Given the description of an element on the screen output the (x, y) to click on. 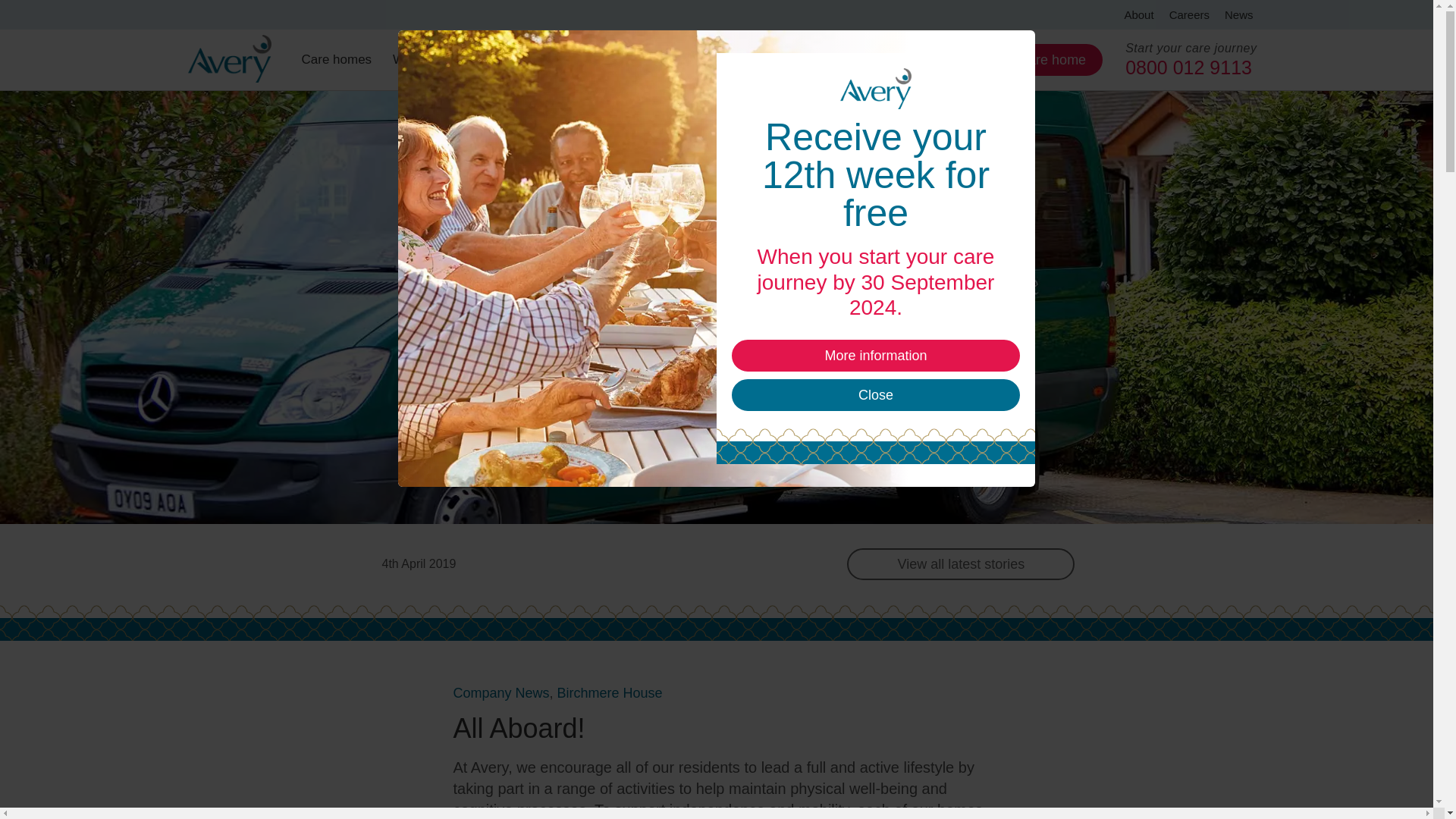
Careers (1189, 14)
About (1138, 14)
News (1238, 14)
Care homes (339, 59)
